Given the description of an element on the screen output the (x, y) to click on. 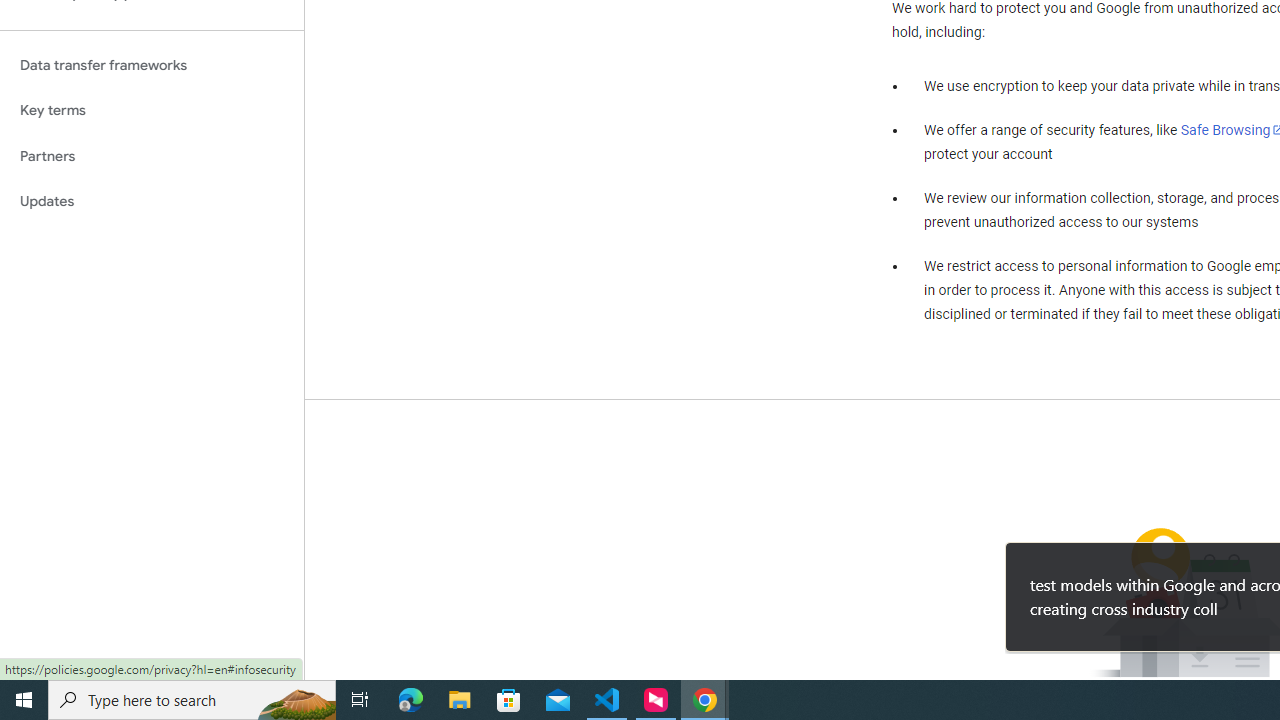
Updates (152, 201)
Data transfer frameworks (152, 65)
Key terms (152, 110)
Partners (152, 156)
